Given the description of an element on the screen output the (x, y) to click on. 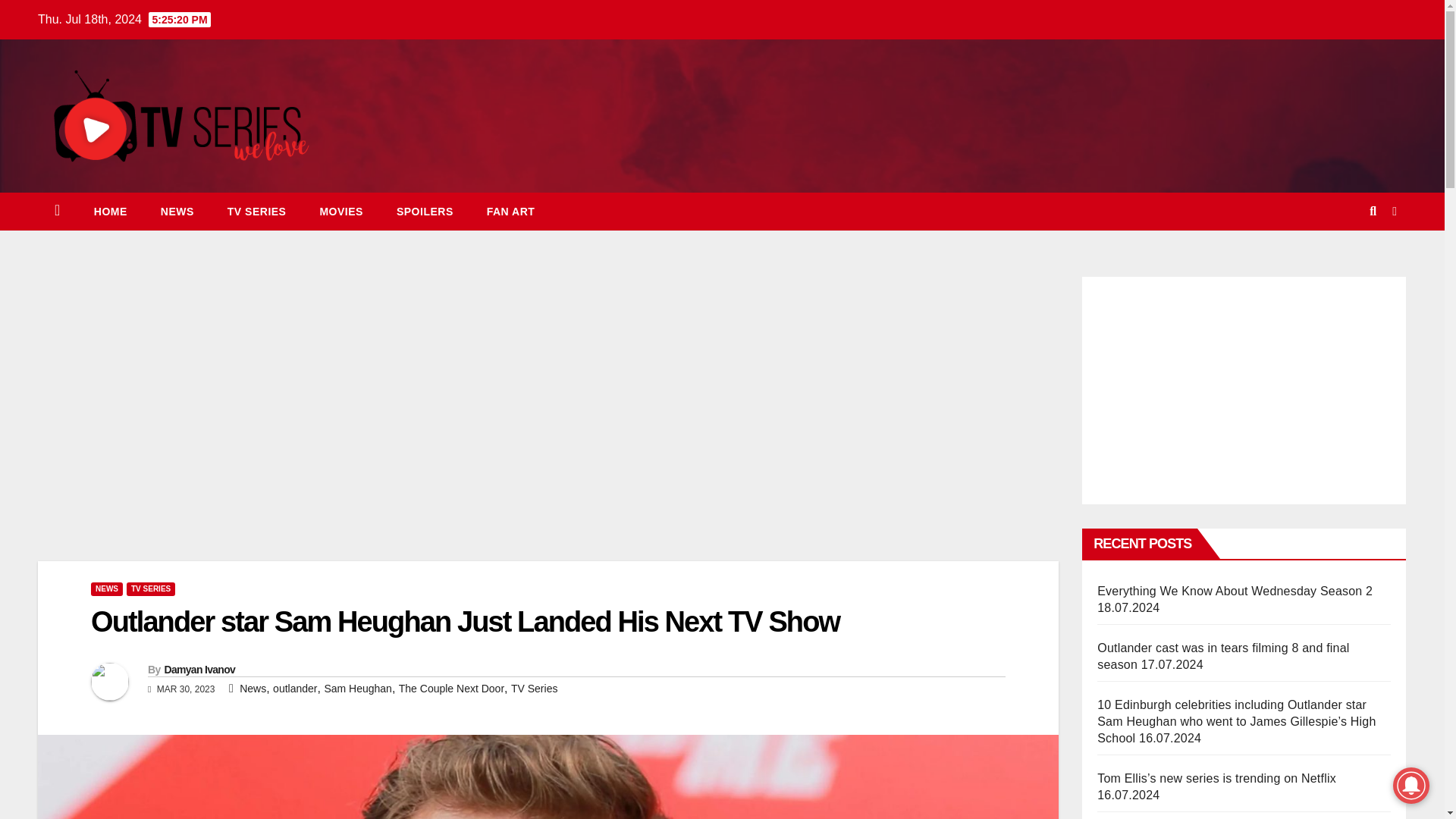
TV Series (256, 211)
NEWS (106, 589)
TV SERIES (150, 589)
News (177, 211)
Advertisement (547, 414)
The Couple Next Door (450, 688)
Sam Heughan (357, 688)
NEWS (177, 211)
TV Series (534, 688)
HOME (110, 211)
Fan art (510, 211)
Spoilers (425, 211)
Home (110, 211)
FAN ART (510, 211)
